Given the description of an element on the screen output the (x, y) to click on. 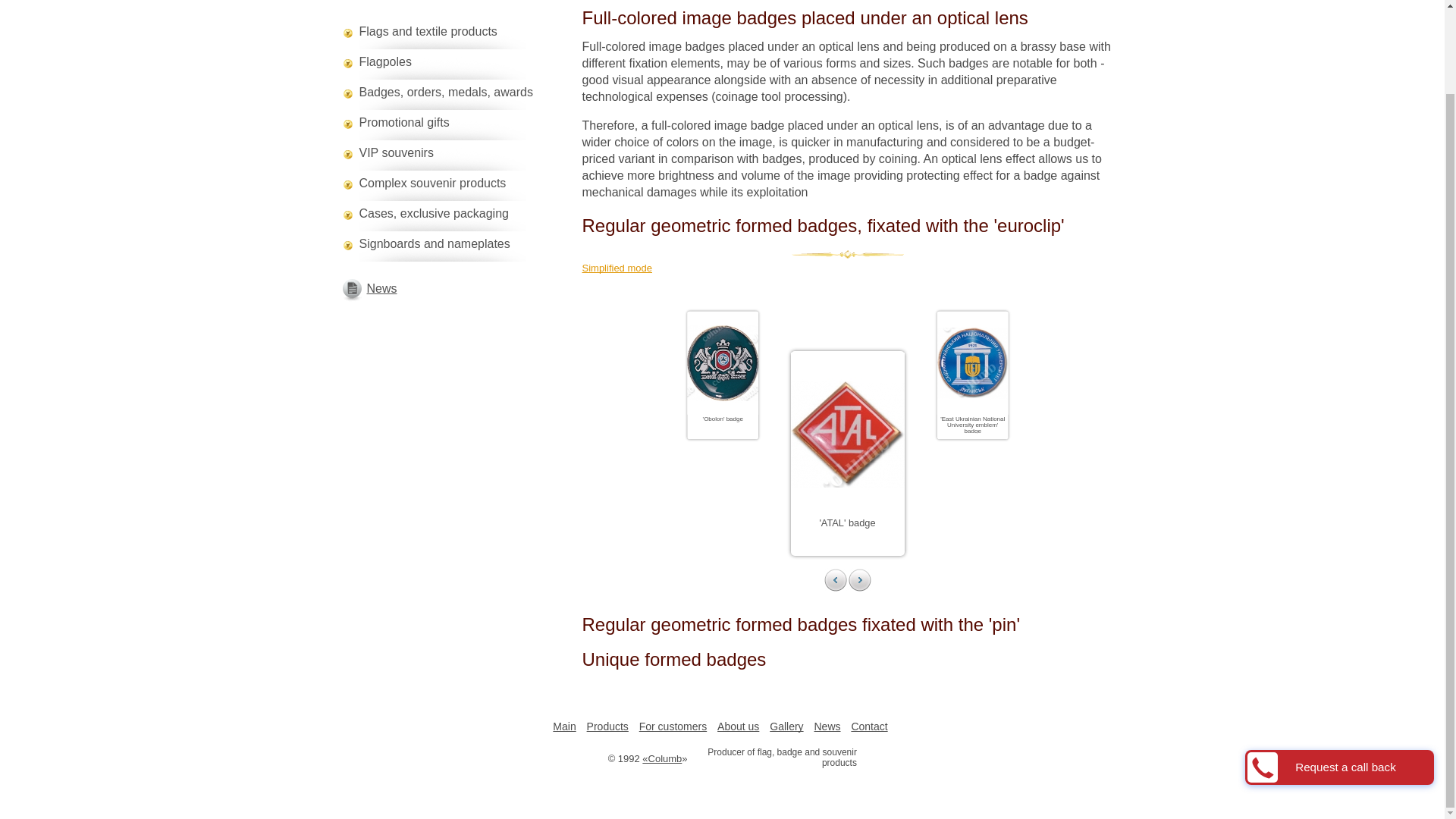
Regular geometric formed badges, fixated with the 'euroclip' (847, 225)
'ATAL' badge (846, 522)
'Obolon' badge (734, 419)
'East Ukrainian National University emblem' badge (991, 429)
Simplified mode (847, 268)
